Given the description of an element on the screen output the (x, y) to click on. 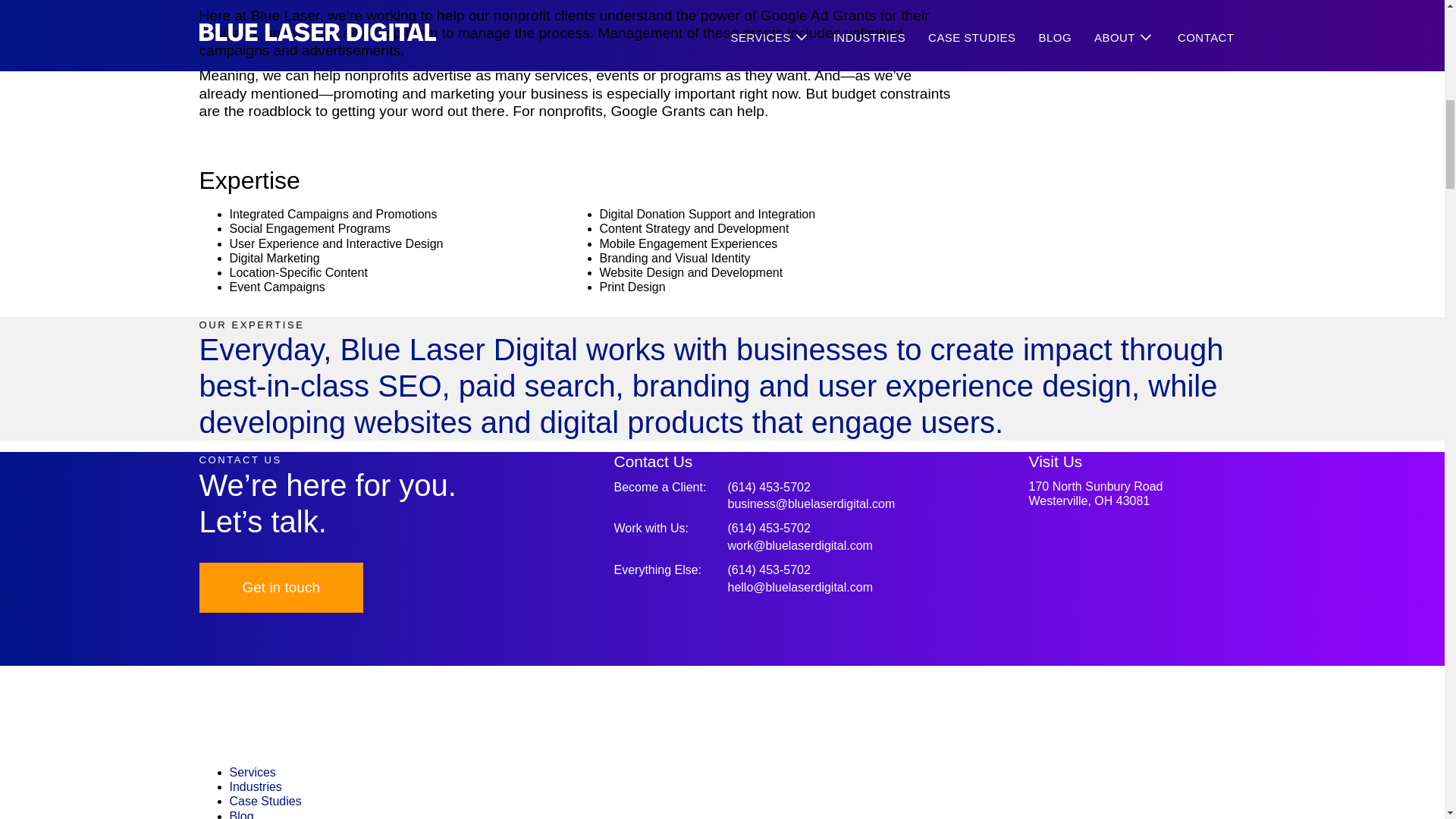
Blog (240, 814)
Case Studies (264, 800)
Services (251, 771)
Get in touch (280, 587)
Industries (1126, 493)
Blue Laser Digital Logo (254, 786)
Blue Laser Digital Logo (721, 745)
